Given the description of an element on the screen output the (x, y) to click on. 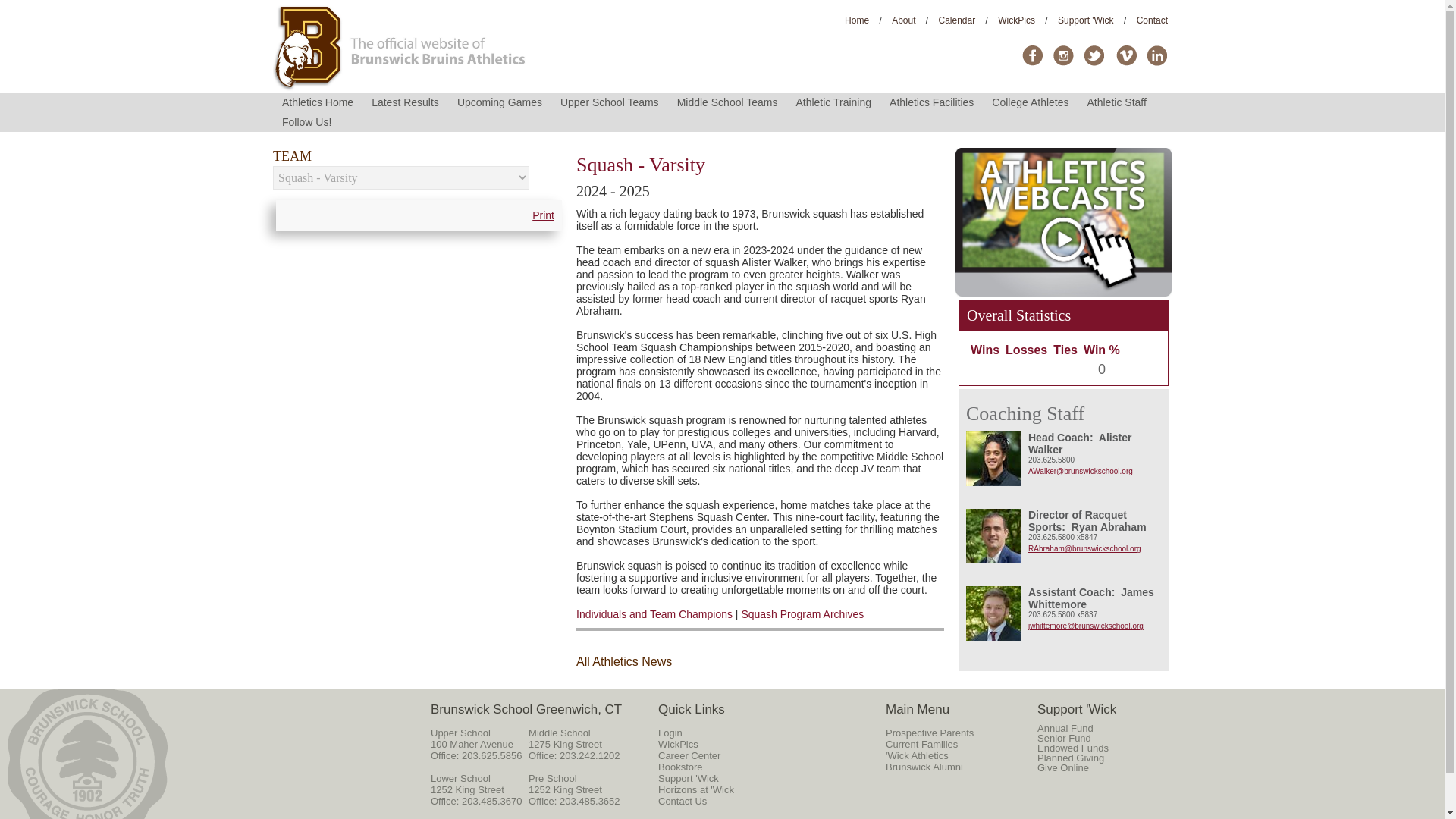
Squash Program Archives (802, 613)
Athletics Facilities (931, 102)
Athletic Training (833, 102)
About (903, 20)
Middle School Teams (727, 102)
Print (543, 215)
Athletics Home (317, 102)
Upper School Teams (609, 102)
All Athletics News (623, 661)
Calendar (957, 20)
